Given the description of an element on the screen output the (x, y) to click on. 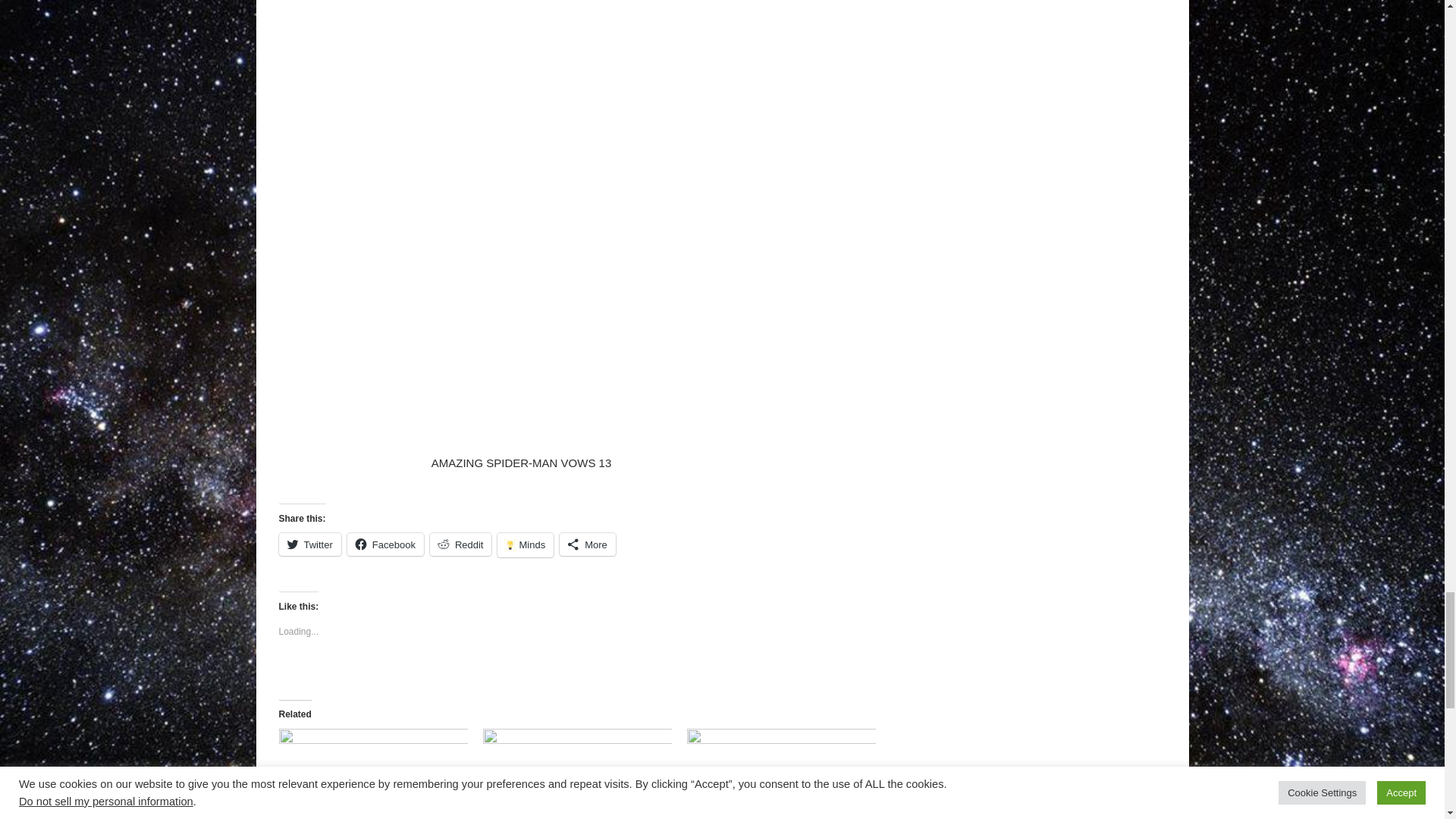
Twitter (309, 544)
Click to share on Facebook (385, 544)
Click to share on Minds (525, 545)
Click to share on Reddit (460, 544)
Marvel Legacy and 52 Titles (373, 773)
Click to share on Twitter (309, 544)
